Given the description of an element on the screen output the (x, y) to click on. 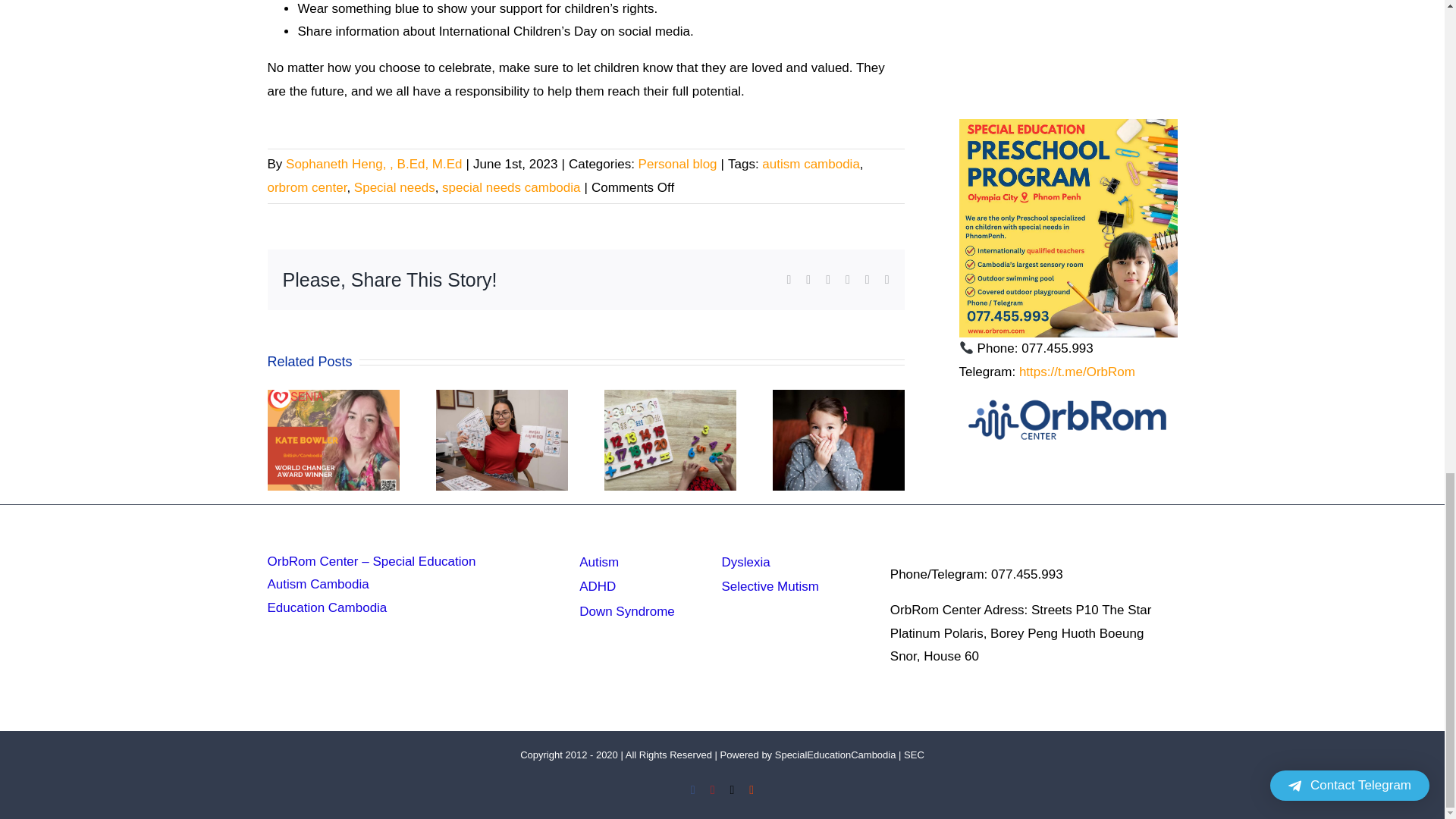
orbrom center (306, 187)
Posts by Sophaneth Heng, , B.Ed, M.Ed (373, 164)
Personal blog (678, 164)
Sophaneth Heng, , B.Ed, M.Ed (373, 164)
special needs cambodia (510, 187)
Special needs (394, 187)
autism cambodia (810, 164)
